Given the description of an element on the screen output the (x, y) to click on. 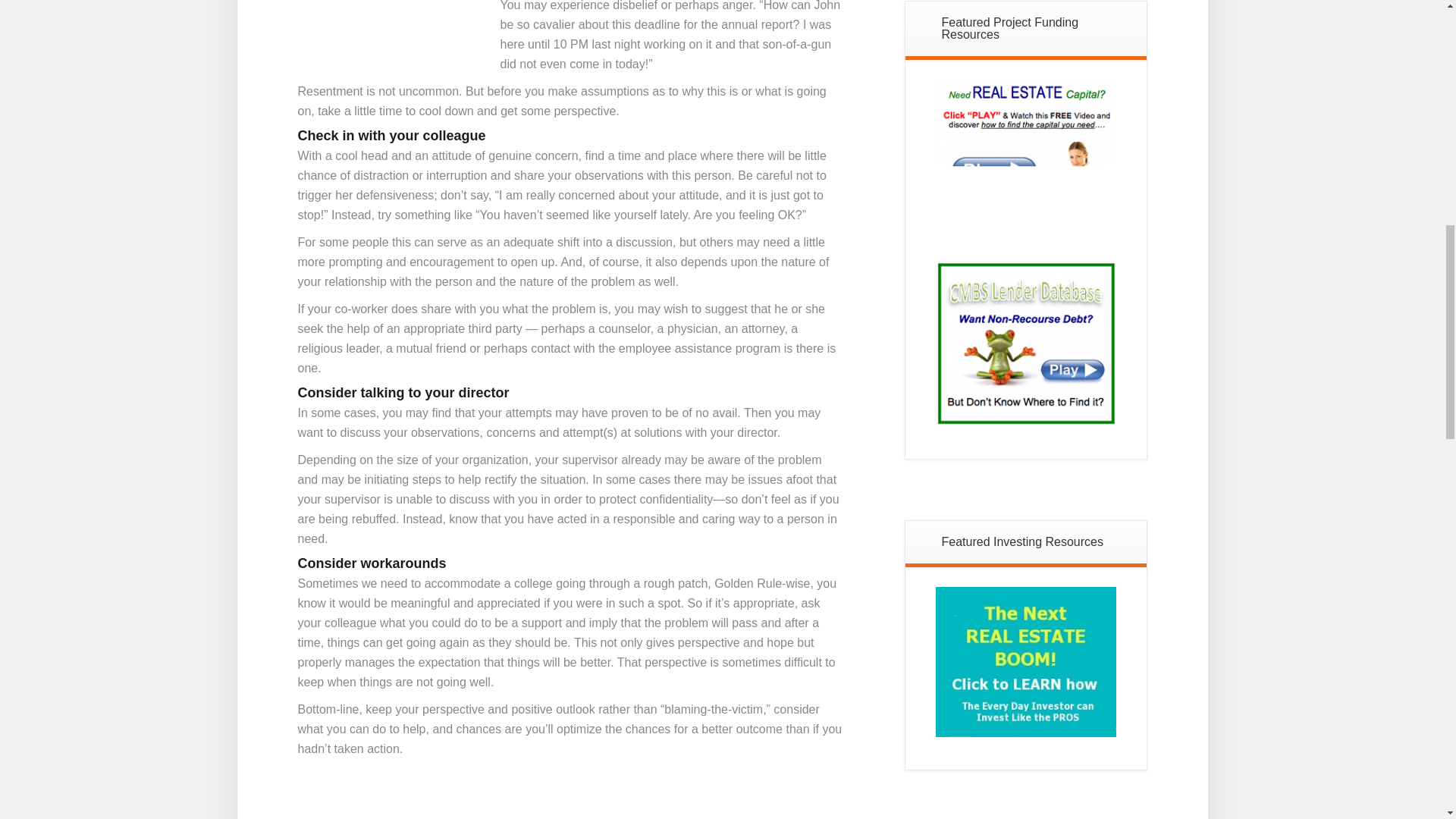
advertisement (1026, 343)
advertisement (1026, 169)
advertisement (1026, 662)
